Given the description of an element on the screen output the (x, y) to click on. 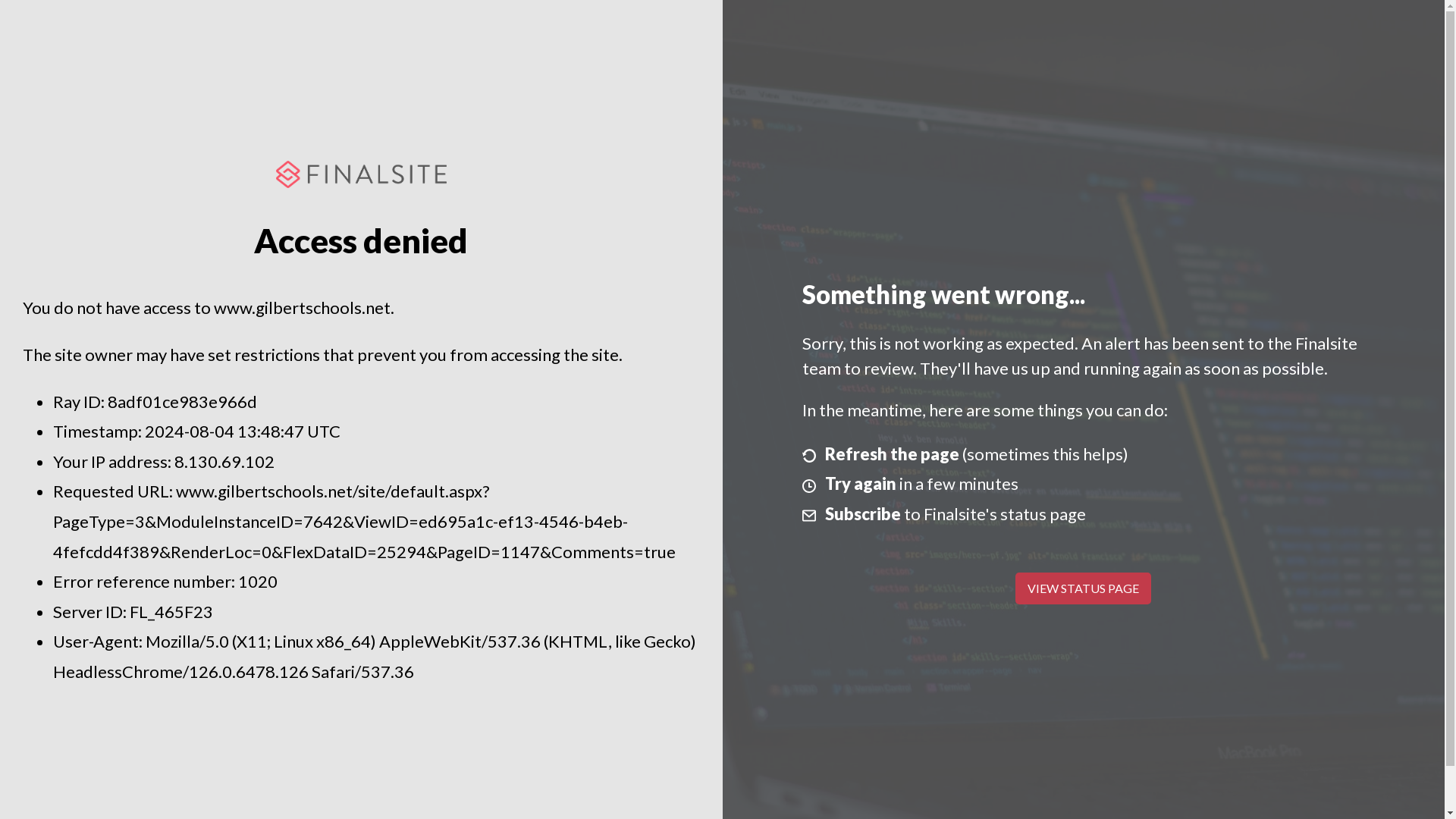
VIEW STATUS PAGE (1082, 588)
